Given the description of an element on the screen output the (x, y) to click on. 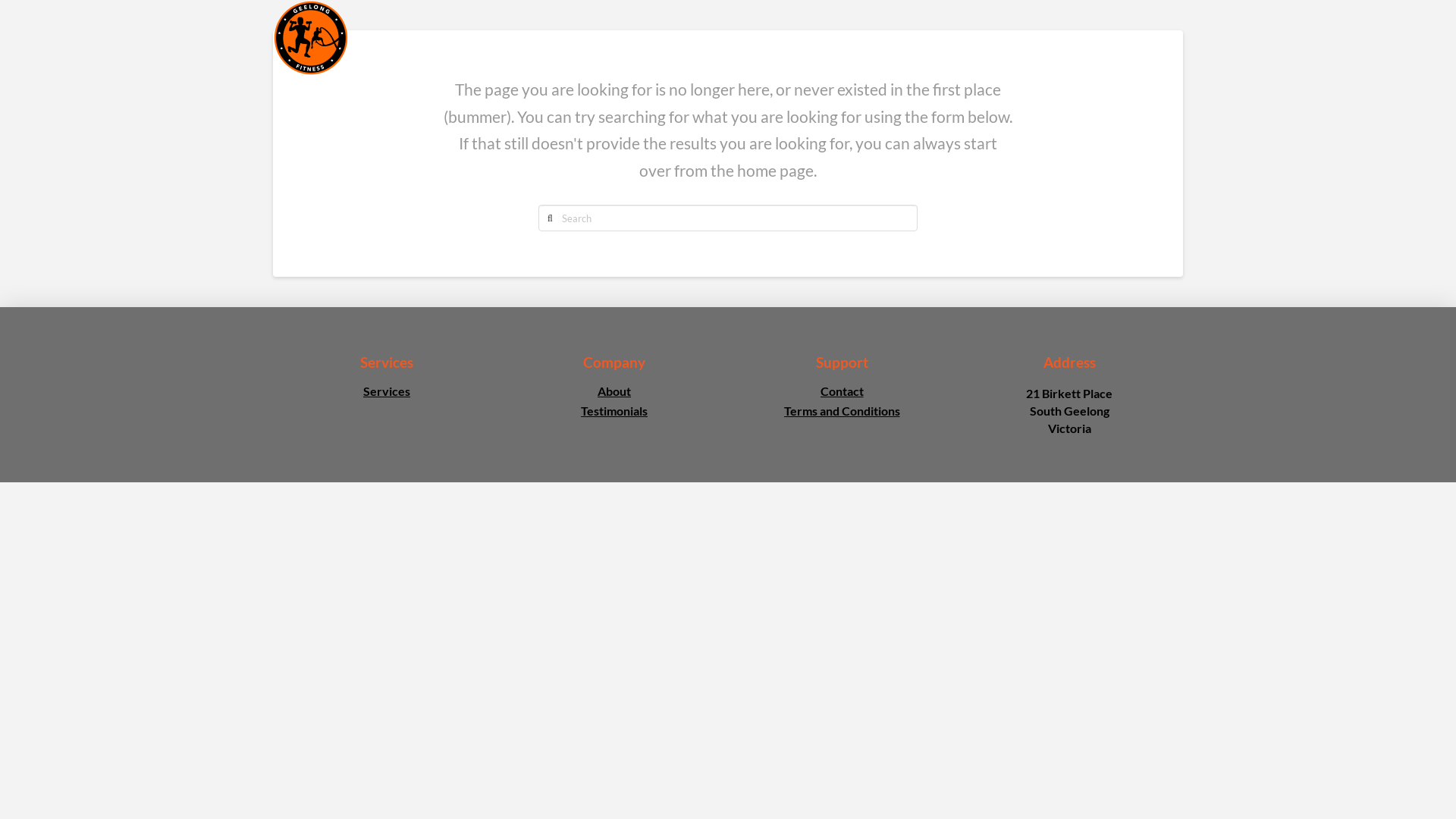
ABOUT Element type: text (670, 37)
Contact Element type: text (841, 394)
Testimonials Element type: text (613, 414)
Terms and Conditions Element type: text (842, 414)
About Element type: text (613, 394)
POSTNATAL Element type: text (934, 37)
HOME Element type: text (600, 37)
TIMETABLE Element type: text (838, 37)
CONTACT Element type: text (1140, 37)
Services Element type: text (386, 394)
TESTIMONIALS Element type: text (1040, 37)
SERVICES Element type: text (748, 37)
